Given the description of an element on the screen output the (x, y) to click on. 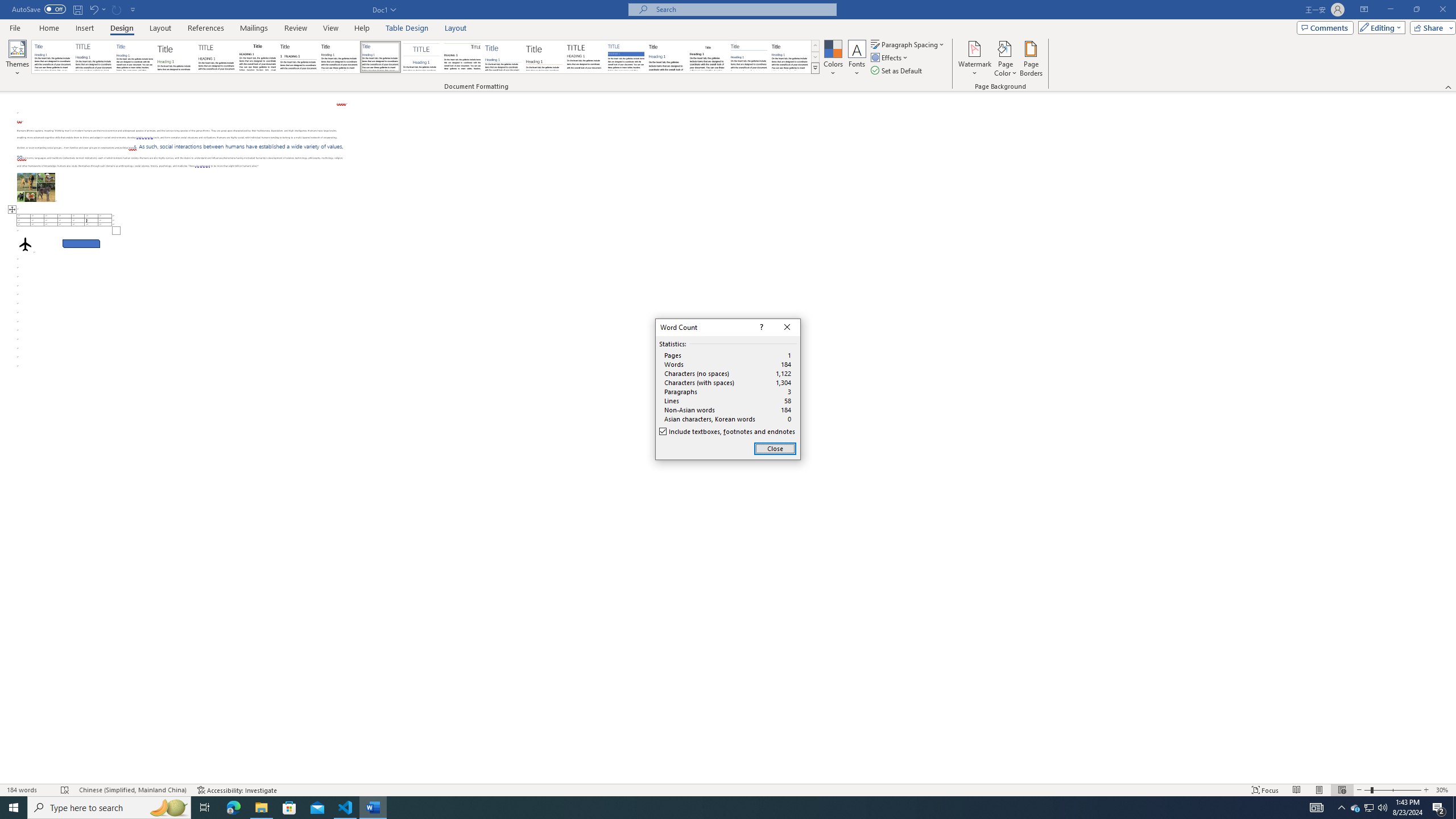
Context help (760, 327)
Design (122, 28)
Basic (Elegant) (93, 56)
User Promoted Notification Area (1368, 807)
Collapse the Ribbon (1448, 86)
Minimalist (584, 56)
Undo Apply Quick Style Set (92, 9)
AutomationID: QuickStylesSets (425, 56)
Language Chinese (Simplified, Mainland China) (132, 790)
Read Mode (1296, 790)
Fonts (856, 58)
Zoom 30% (1443, 790)
Review (295, 28)
Show desktop (1454, 807)
Black & White (Classic) (257, 56)
